Given the description of an element on the screen output the (x, y) to click on. 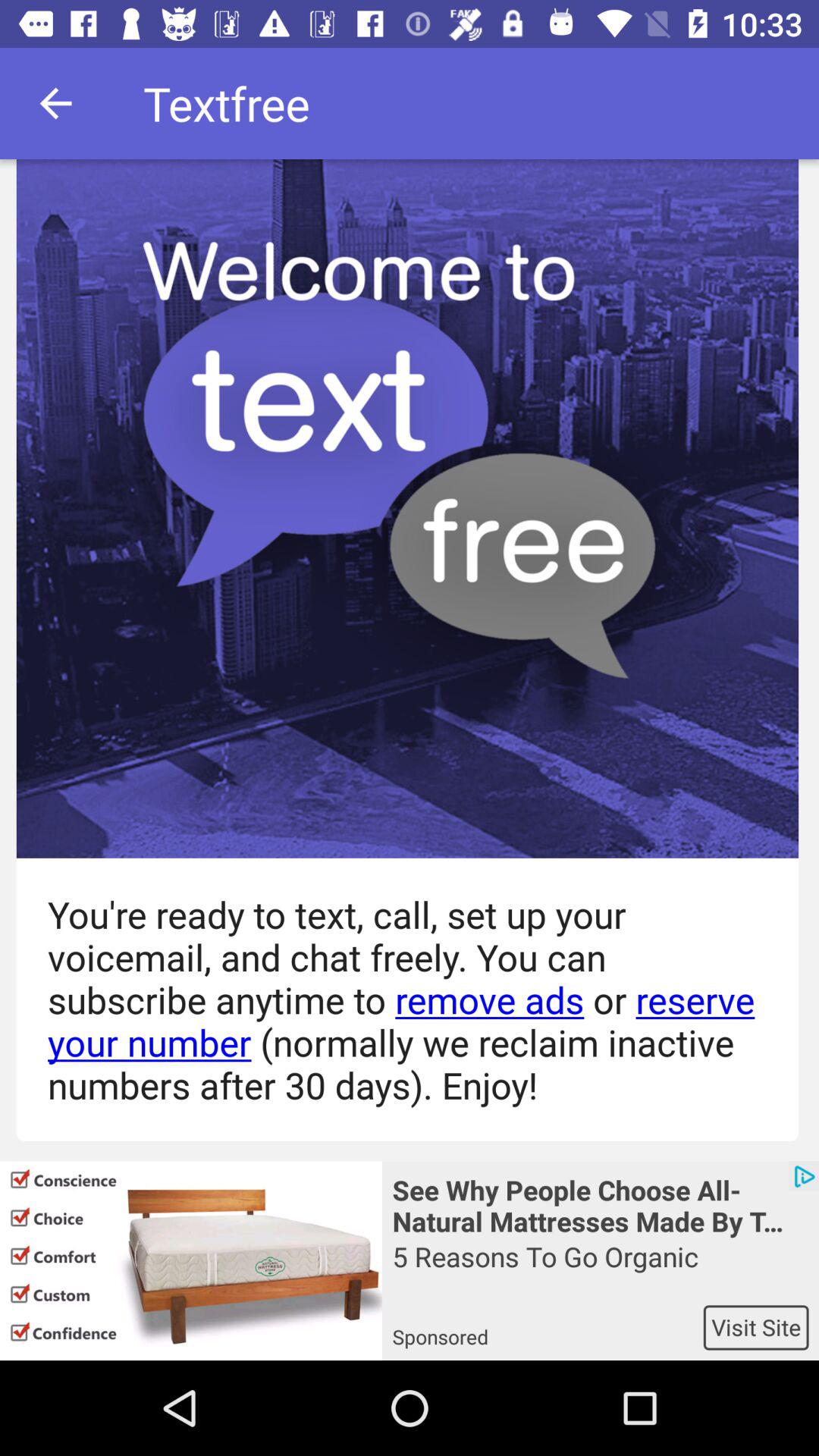
select app above sponsored icon (600, 1271)
